Given the description of an element on the screen output the (x, y) to click on. 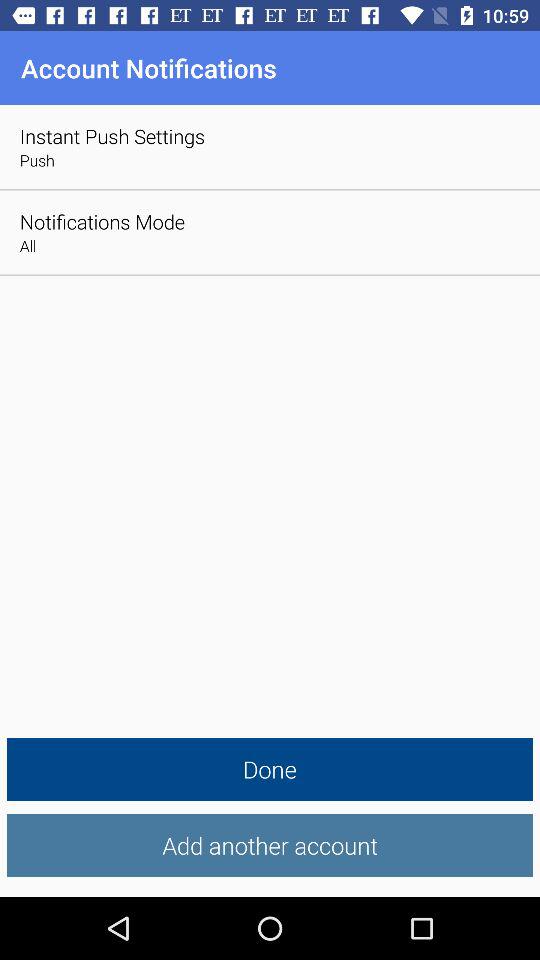
choose the icon below done (269, 845)
